Given the description of an element on the screen output the (x, y) to click on. 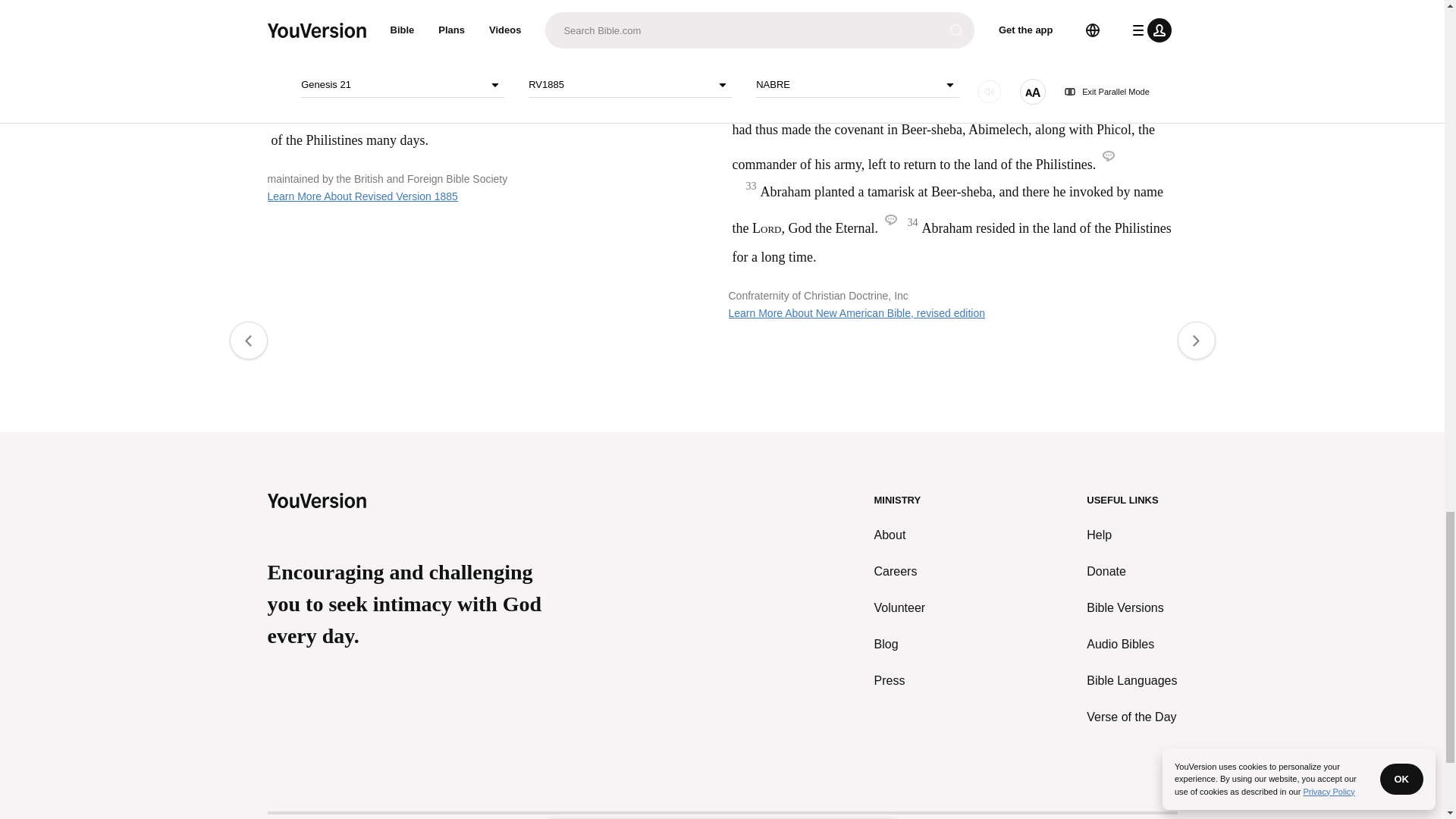
Audio Bibles (1131, 644)
Bible Versions (1131, 607)
Learn More About New American Bible, revised edition (856, 313)
Volunteer (900, 607)
Bible Languages (1131, 680)
Donate (1131, 571)
Blog (900, 644)
Help (1131, 535)
About (900, 535)
Verse of the Day (1131, 717)
Careers (900, 571)
Press (900, 680)
Learn More About Revised Version 1885 (361, 196)
